Given the description of an element on the screen output the (x, y) to click on. 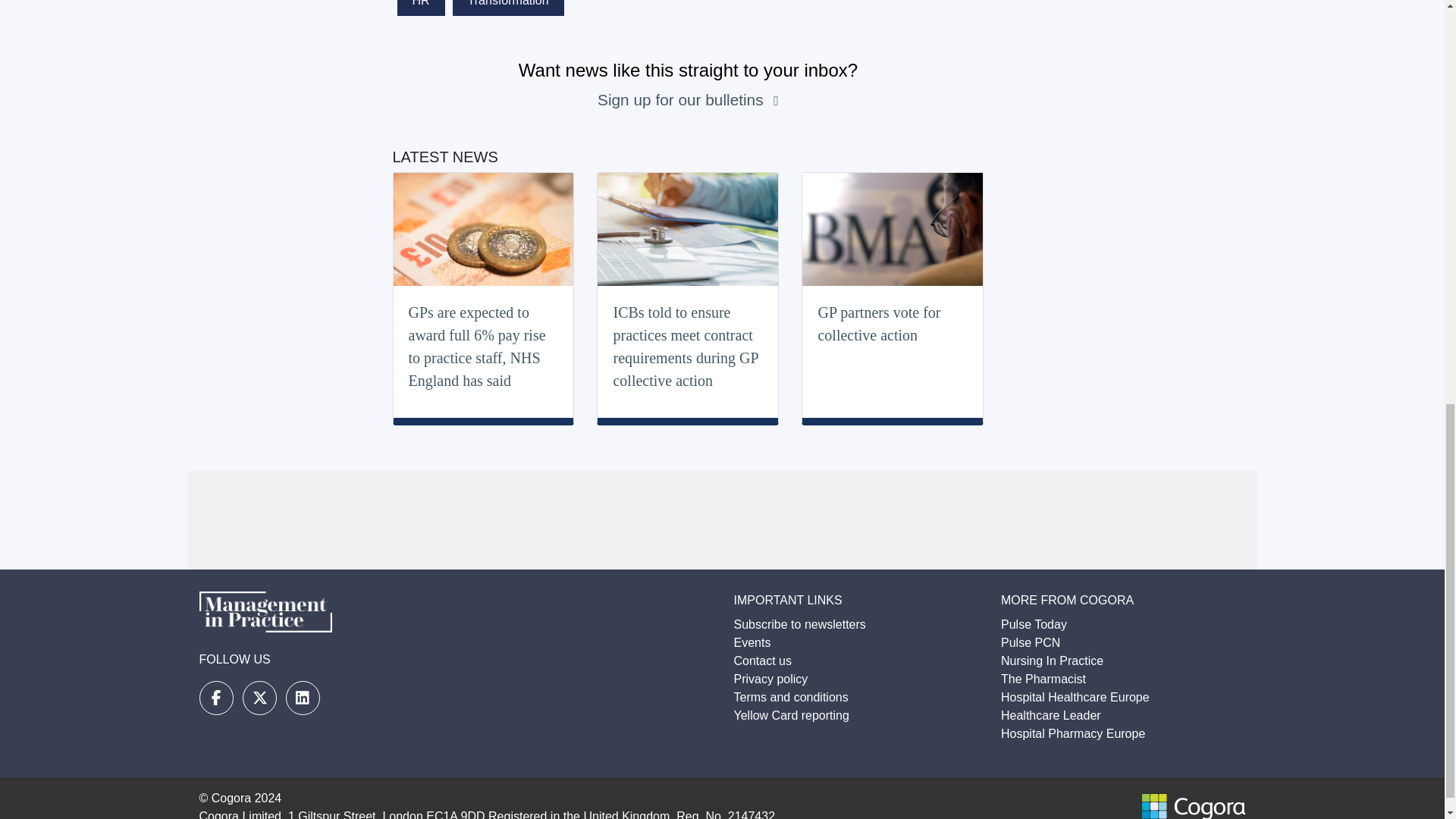
Yellow Card reporting (790, 715)
Sign up for our bulletins (681, 99)
Healthcare Leader (1050, 715)
Privacy policy (770, 678)
Subscribe to newsletters (799, 624)
Events (752, 642)
The Pharmacist (1043, 678)
Hospital Healthcare Europe (1075, 697)
Pulse PCN (1030, 642)
Terms and conditions (790, 697)
